Given the description of an element on the screen output the (x, y) to click on. 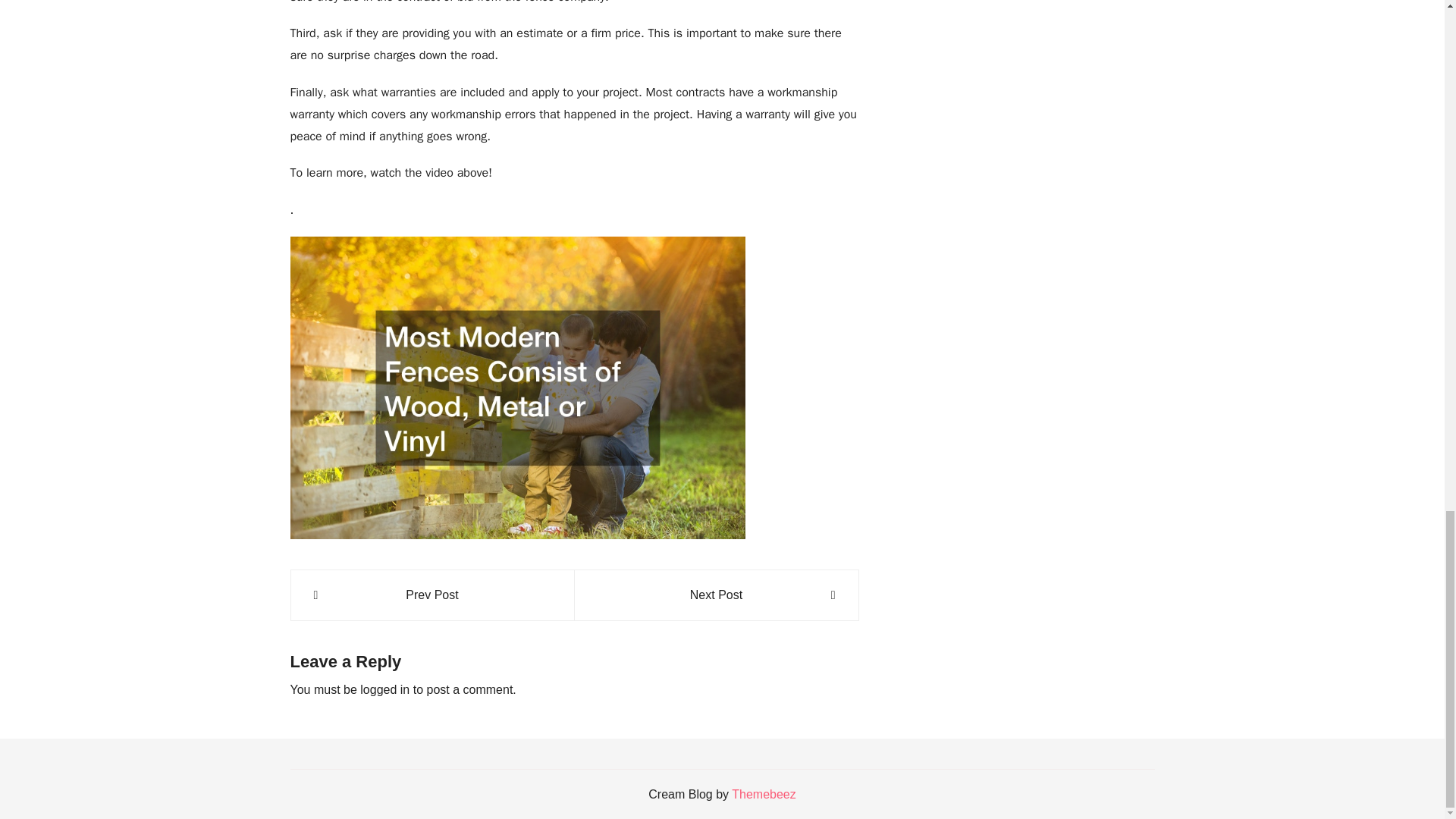
Next Post (715, 595)
Themebeez (764, 793)
Prev Post (432, 595)
logged in (384, 689)
